Given the description of an element on the screen output the (x, y) to click on. 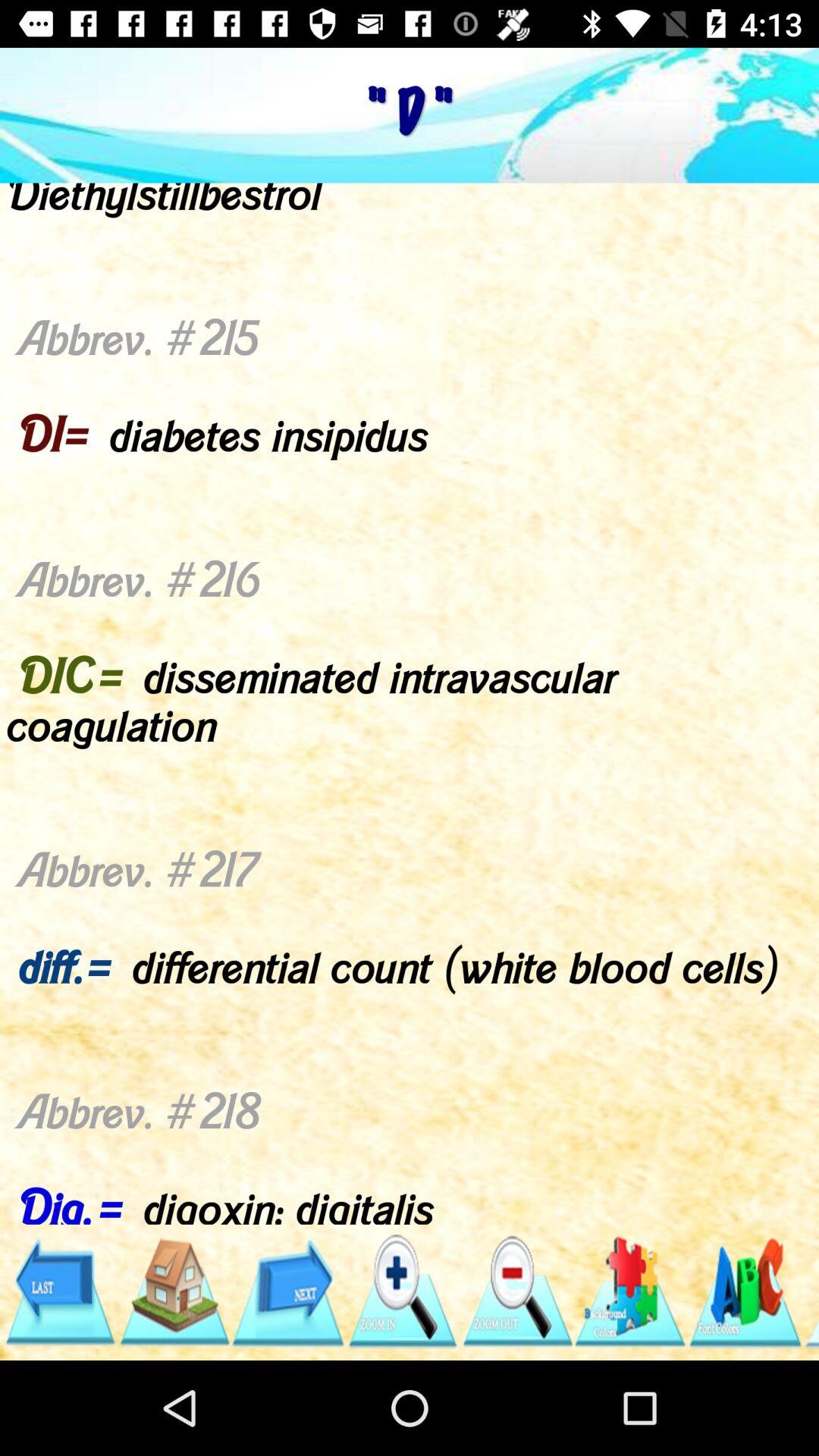
press item below abbrev 	209	 	d (745, 1291)
